Given the description of an element on the screen output the (x, y) to click on. 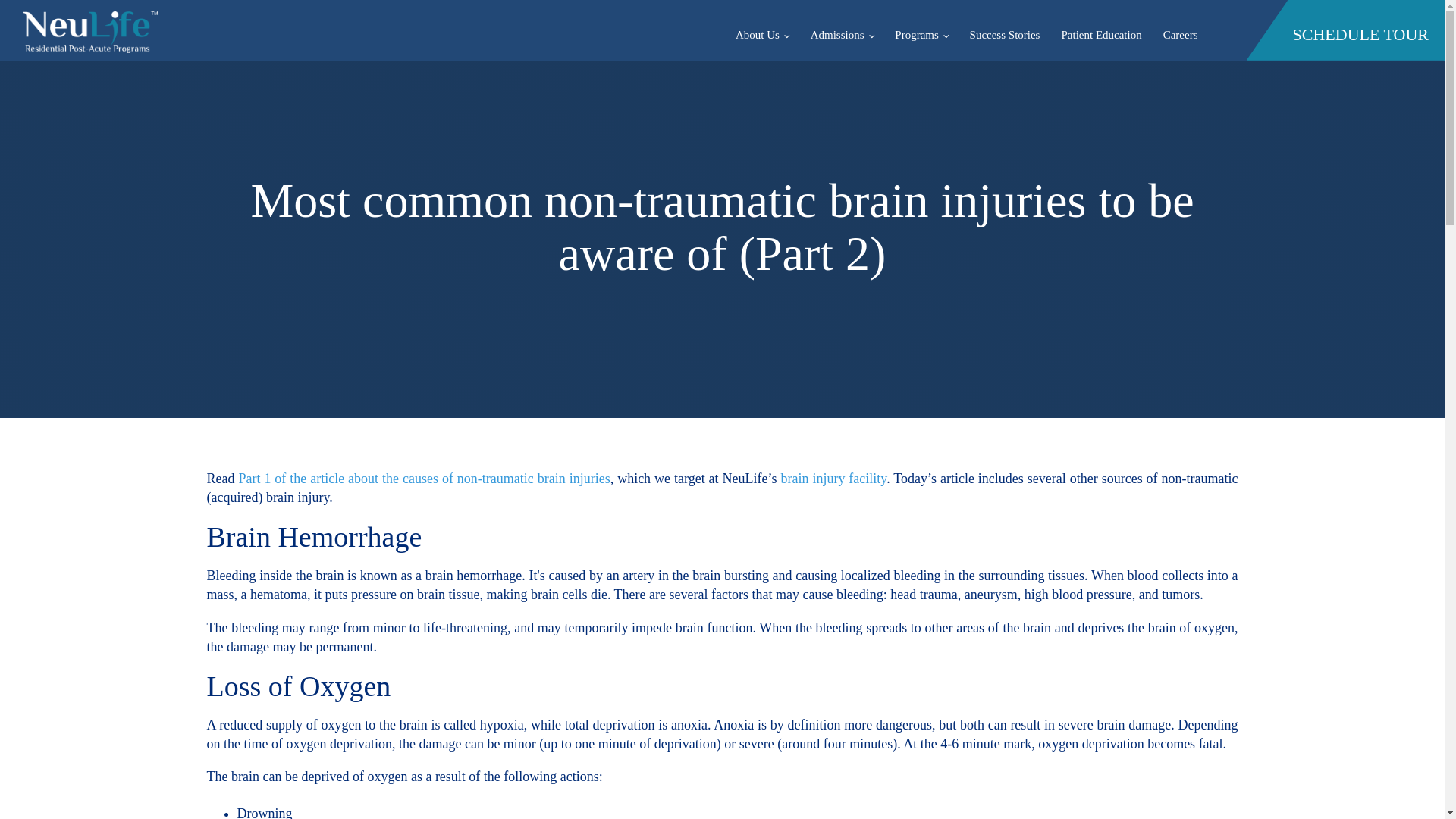
brain injury facility (833, 478)
Success Stories (1005, 34)
Patient Education (1100, 34)
About Us (762, 34)
Programs (920, 34)
Careers (1180, 34)
Admissions (842, 34)
